Given the description of an element on the screen output the (x, y) to click on. 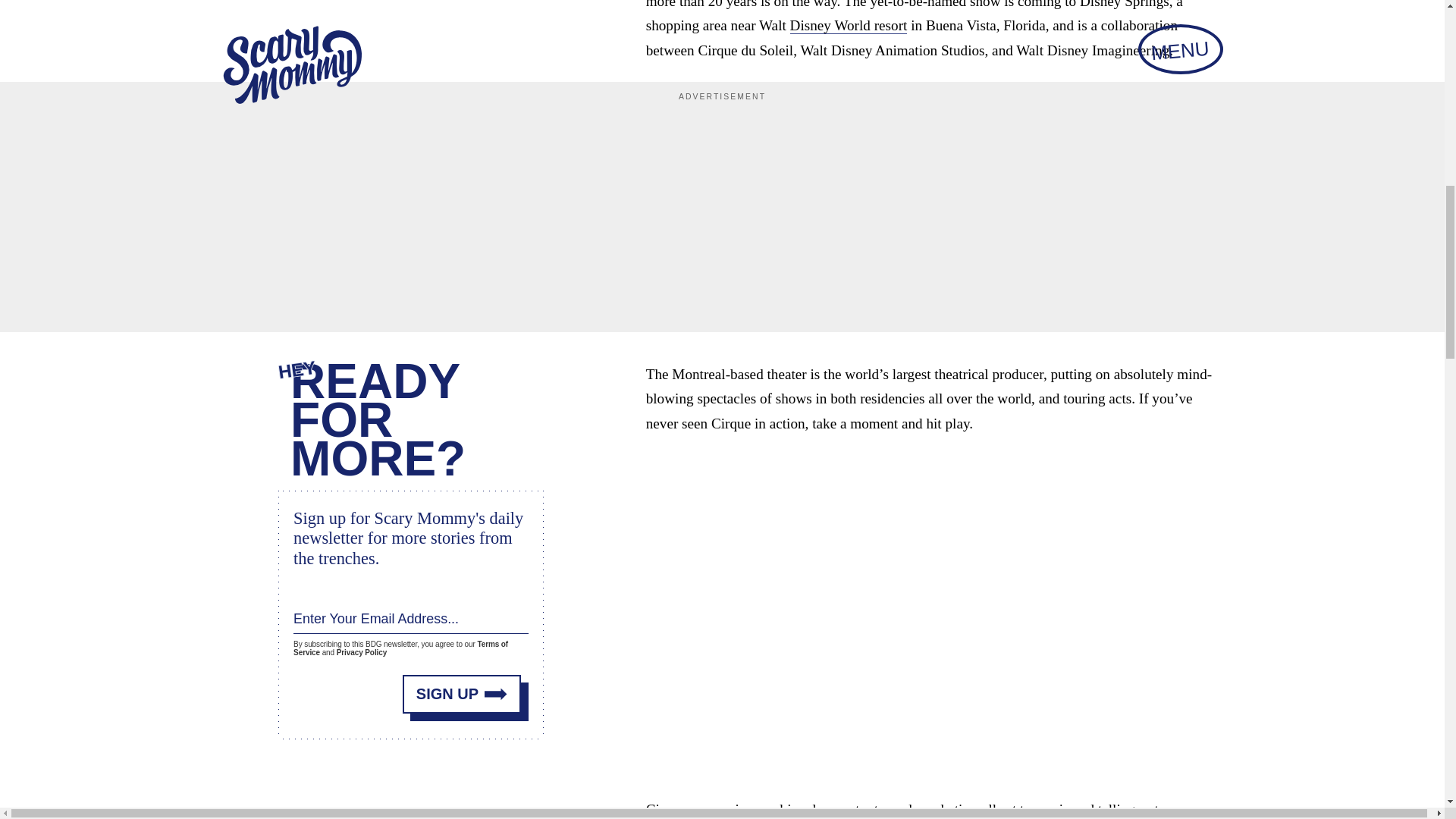
Terms of Service (401, 647)
Disney World resort (848, 25)
Privacy Policy (361, 652)
SIGN UP (462, 693)
